Given the description of an element on the screen output the (x, y) to click on. 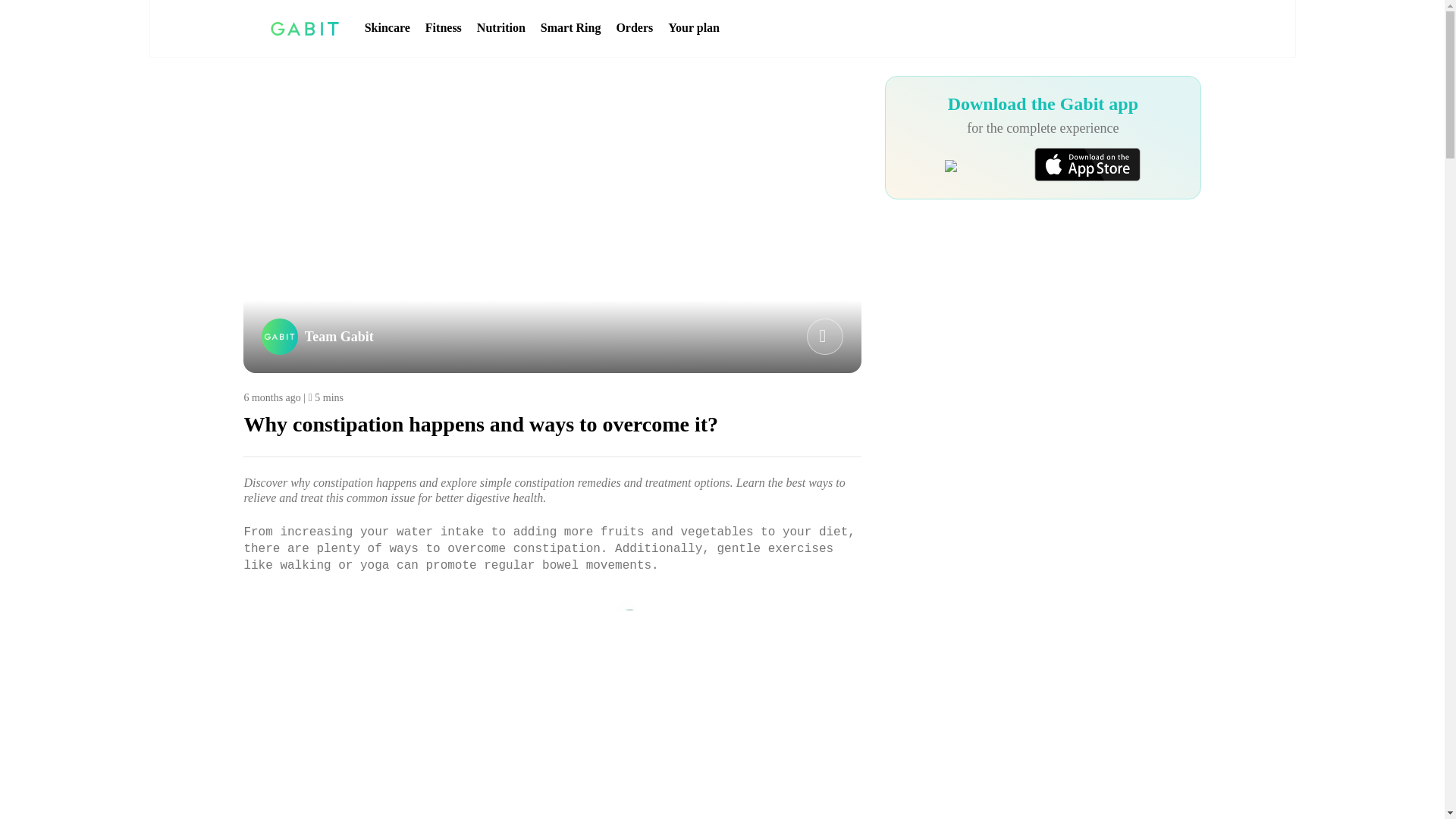
Skincare (387, 27)
Smart Ring (570, 27)
Orders (633, 27)
Fitness (443, 27)
Your plan (693, 27)
Nutrition (501, 27)
